Given the description of an element on the screen output the (x, y) to click on. 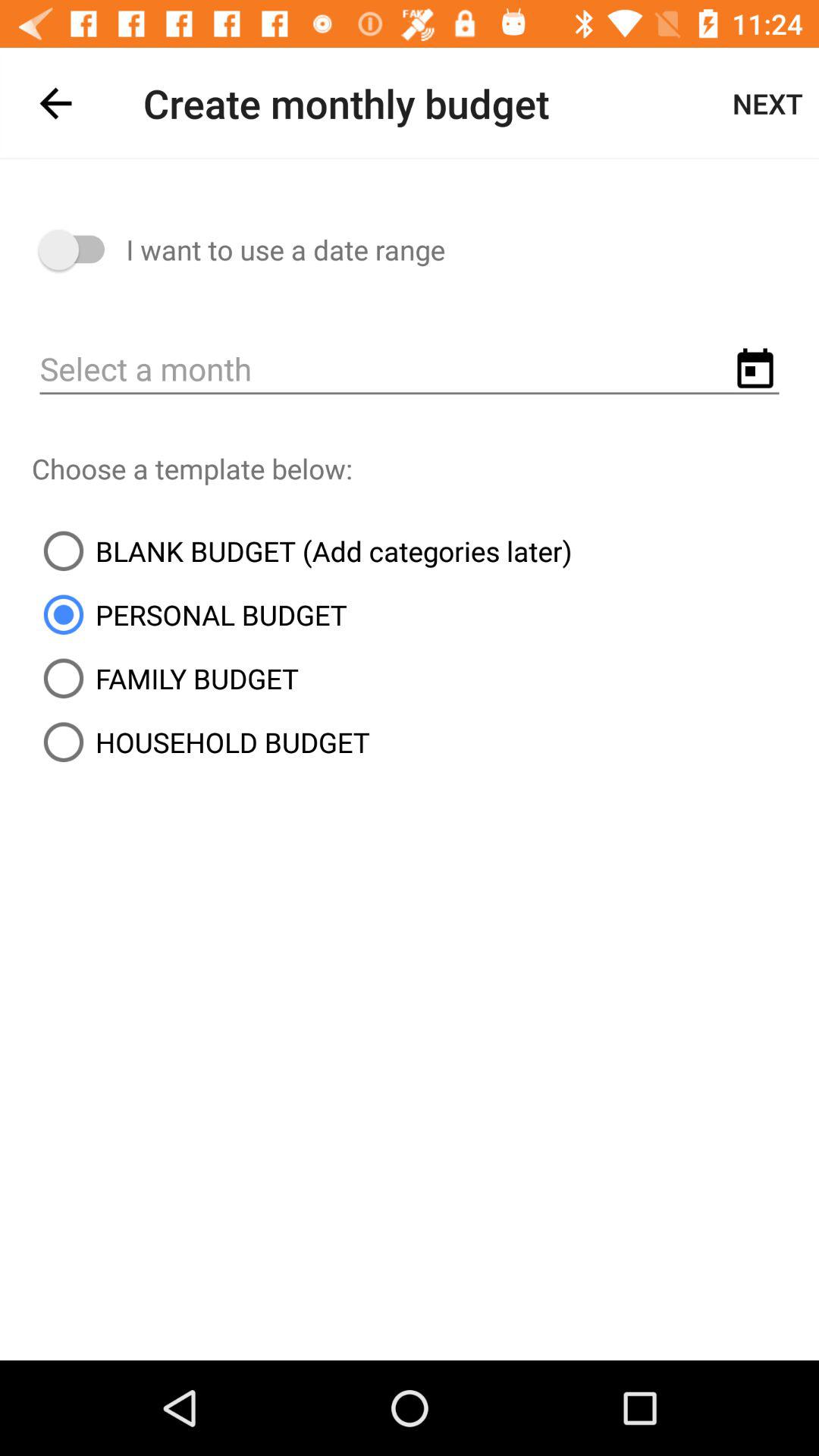
toggle date range option (78, 249)
